Given the description of an element on the screen output the (x, y) to click on. 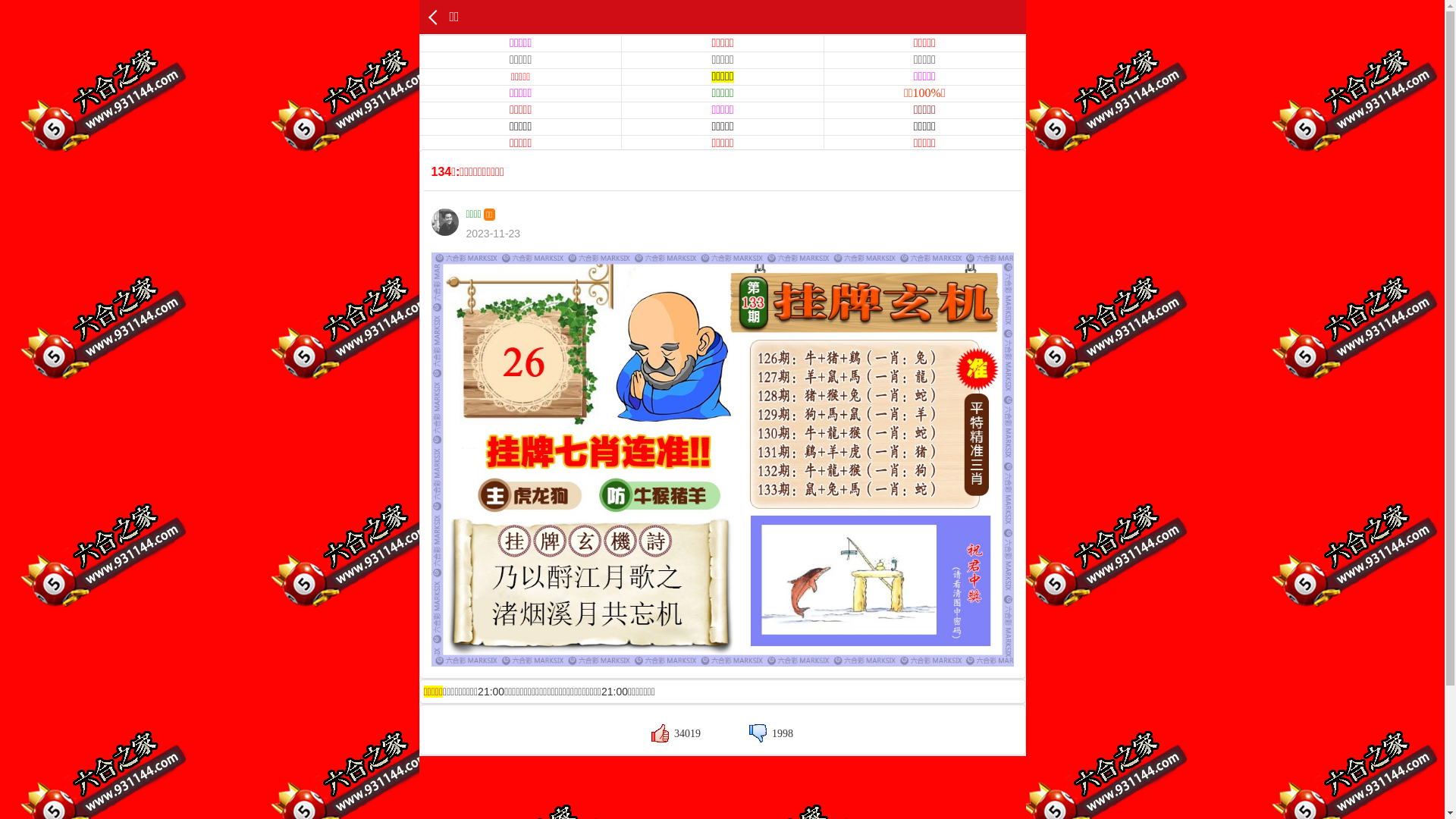
34019 Element type: text (675, 733)
1998 Element type: text (771, 733)
